Given the description of an element on the screen output the (x, y) to click on. 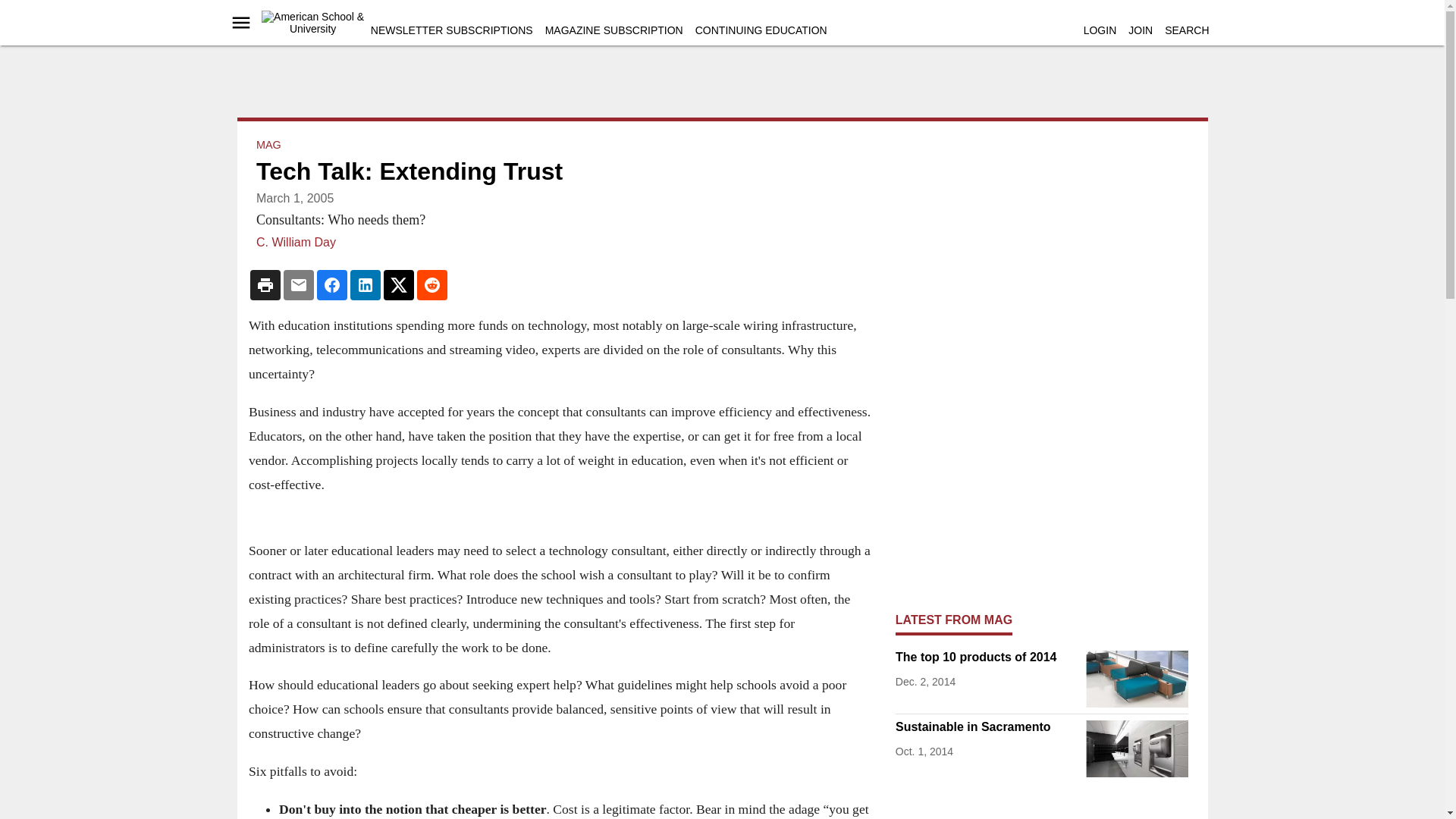
JOIN (1140, 30)
CONTINUING EDUCATION (761, 30)
SEARCH (1186, 30)
MAGAZINE SUBSCRIPTION (613, 30)
Image (1137, 748)
C. William Day (296, 241)
MAG (268, 144)
Image (1137, 678)
LOGIN (1099, 30)
NEWSLETTER SUBSCRIPTIONS (451, 30)
